Given the description of an element on the screen output the (x, y) to click on. 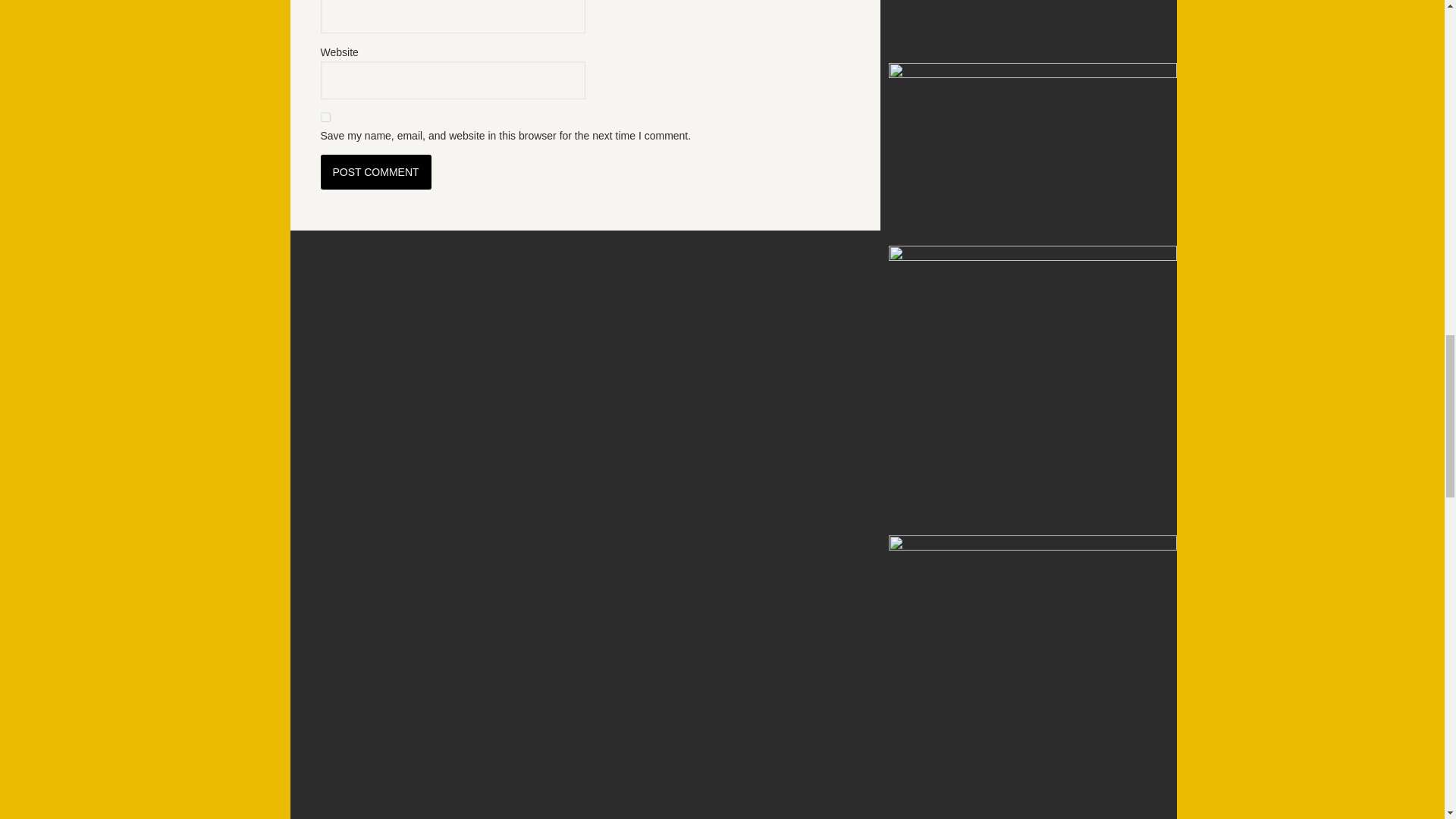
Post Comment (375, 171)
yes (325, 117)
Post Comment (375, 171)
